Given the description of an element on the screen output the (x, y) to click on. 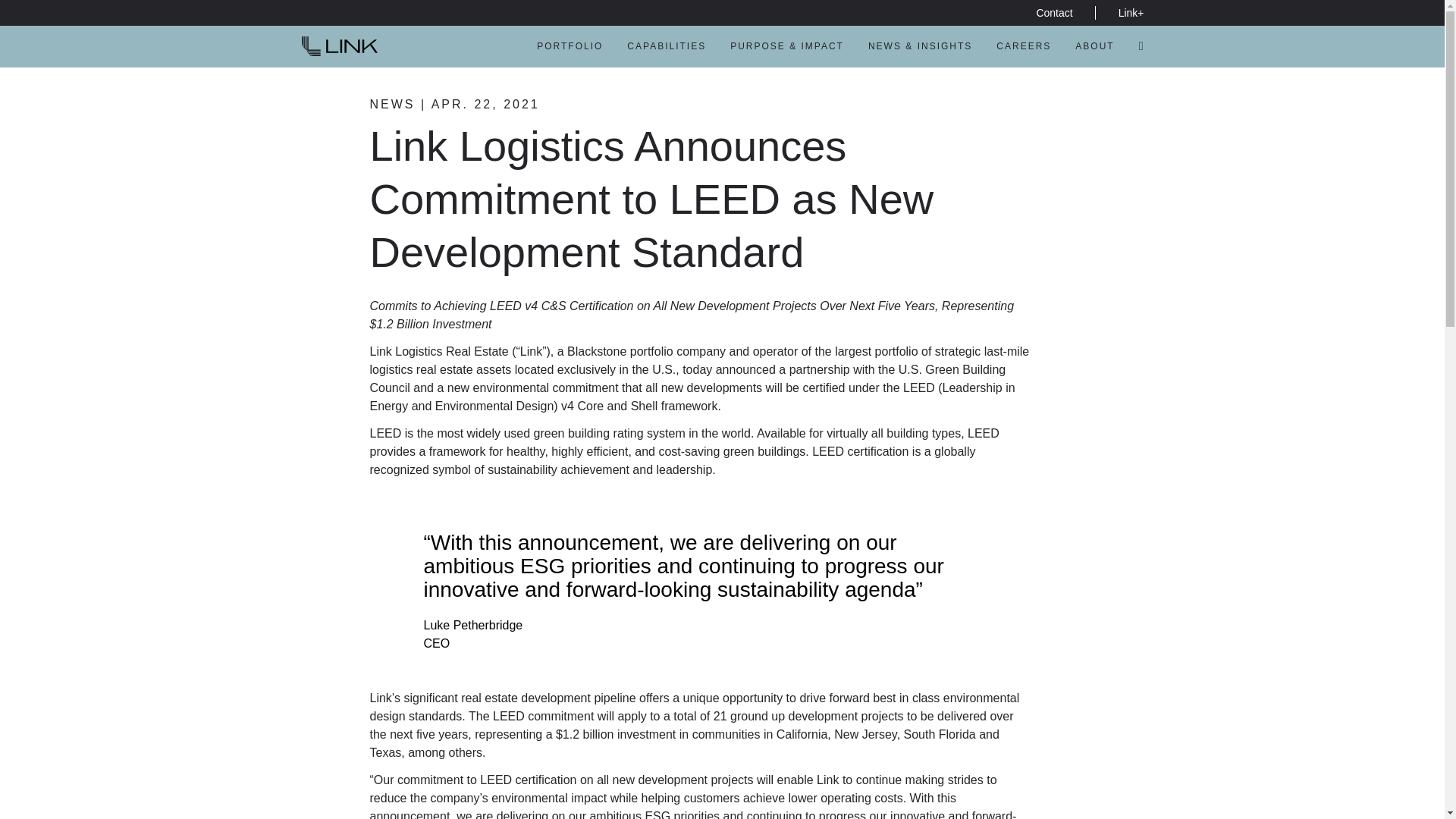
ABOUT (1094, 46)
Contact (1054, 12)
PORTFOLIO (569, 46)
CAREERS (1023, 46)
